Given the description of an element on the screen output the (x, y) to click on. 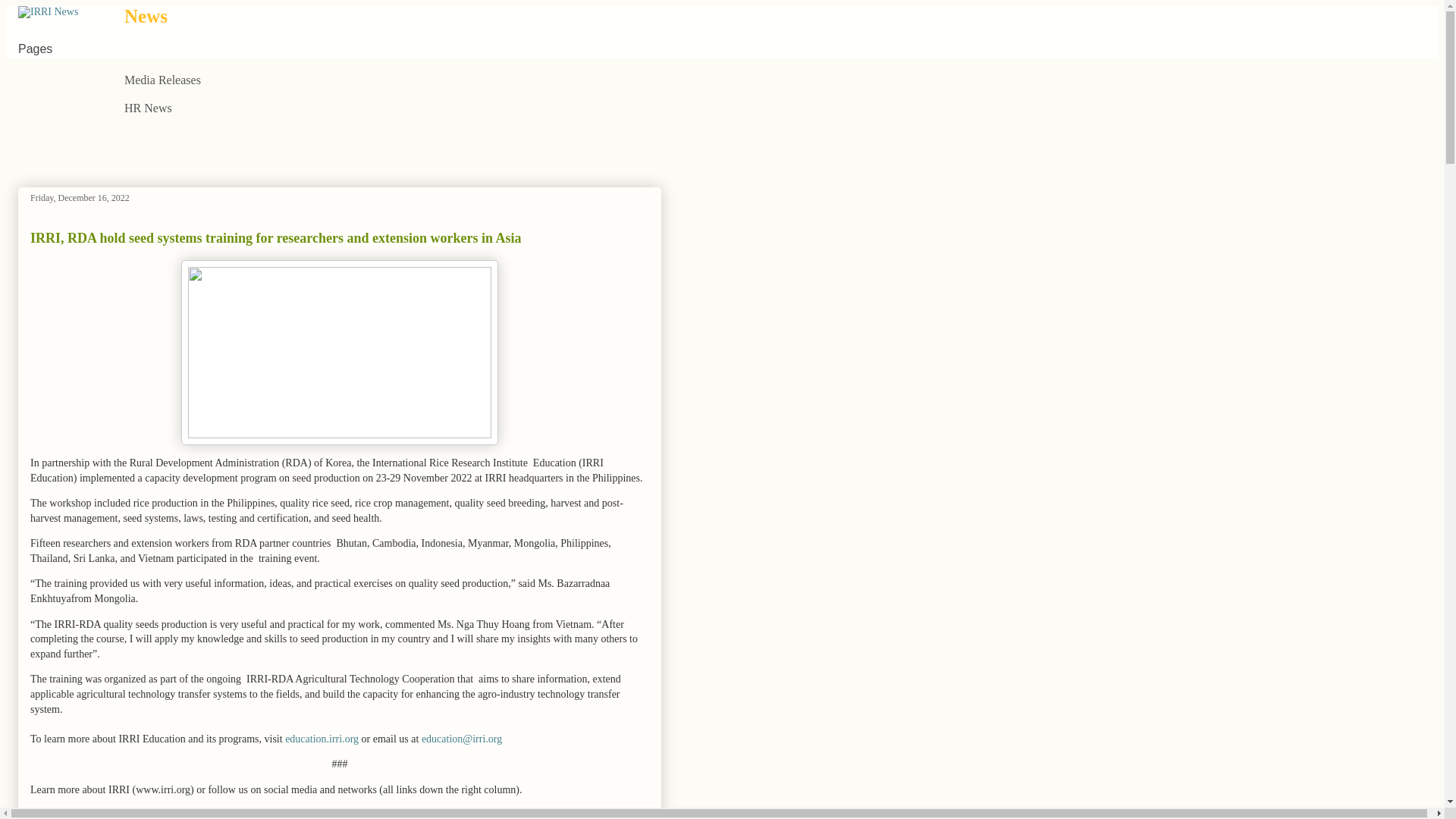
HR News (147, 108)
News (145, 15)
education.irri.org (321, 738)
Media Releases (161, 80)
